Given the description of an element on the screen output the (x, y) to click on. 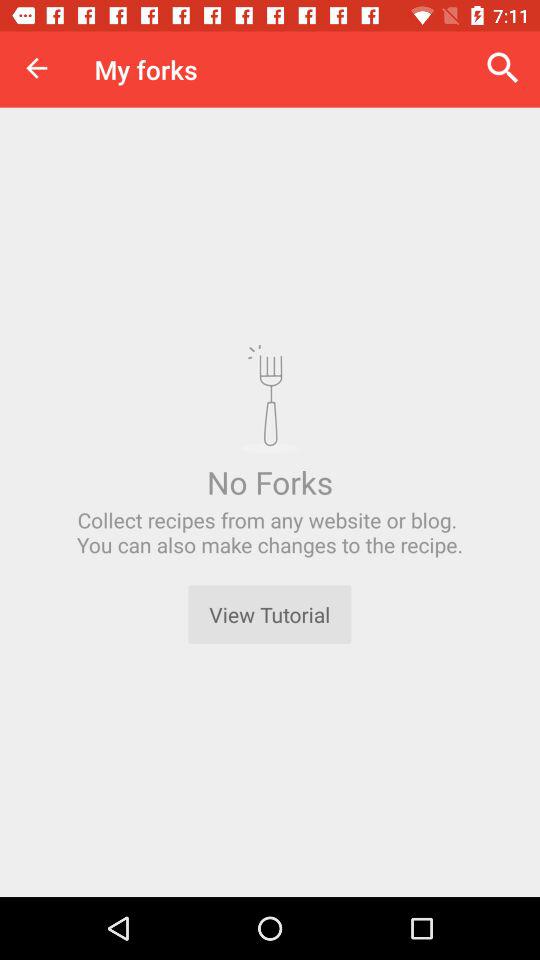
press the item to the left of my forks icon (36, 68)
